Given the description of an element on the screen output the (x, y) to click on. 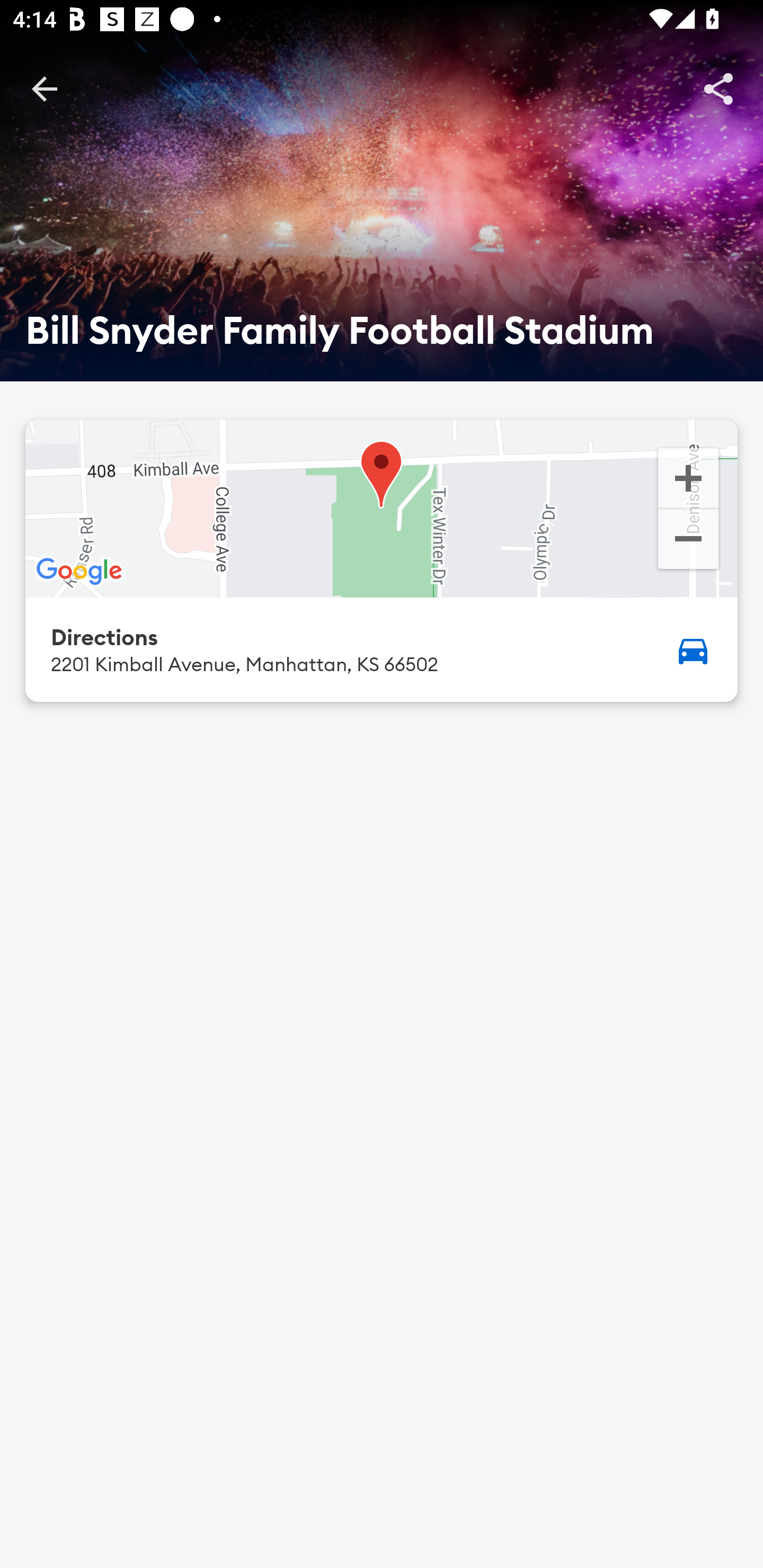
BackButton (44, 88)
Share (718, 88)
Zoom in (687, 476)
Zoom out (687, 540)
